Given the description of an element on the screen output the (x, y) to click on. 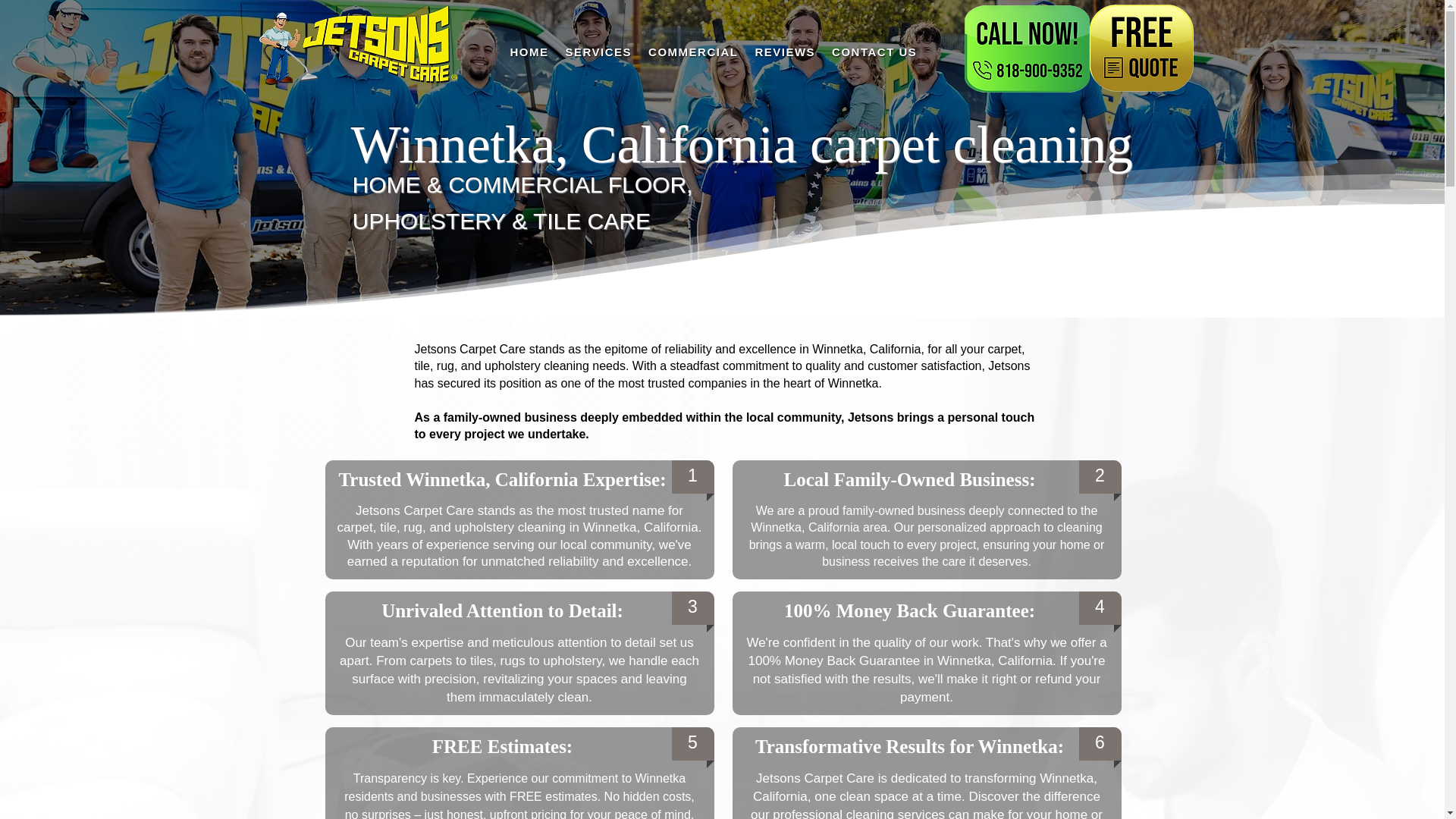
COMMERCIAL (692, 51)
CONTACT US (874, 51)
SERVICES (598, 51)
HOME (529, 51)
REVIEWS (784, 51)
